Given the description of an element on the screen output the (x, y) to click on. 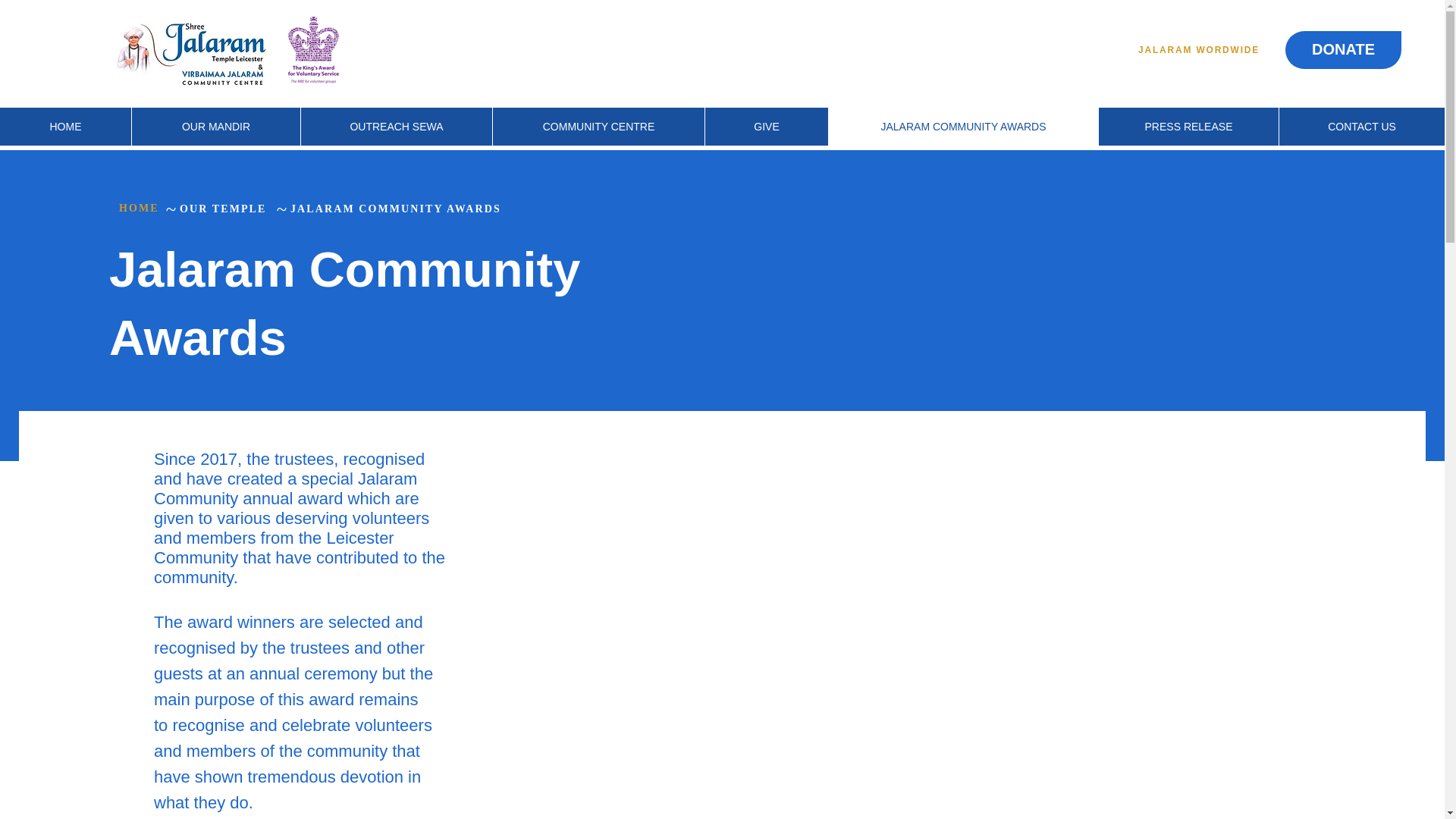
OUR MANDIR (215, 126)
HOME (141, 208)
OUTREACH SEWA (395, 126)
HOME (65, 126)
JALARAM WORDWIDE (1203, 50)
OUR TEMPLE (226, 209)
JALARAM COMMUNITY AWARDS (962, 126)
GIVE (766, 126)
JALARAM COMMUNITY AWARDS (423, 209)
COMMUNITY CENTRE (598, 126)
